Given the description of an element on the screen output the (x, y) to click on. 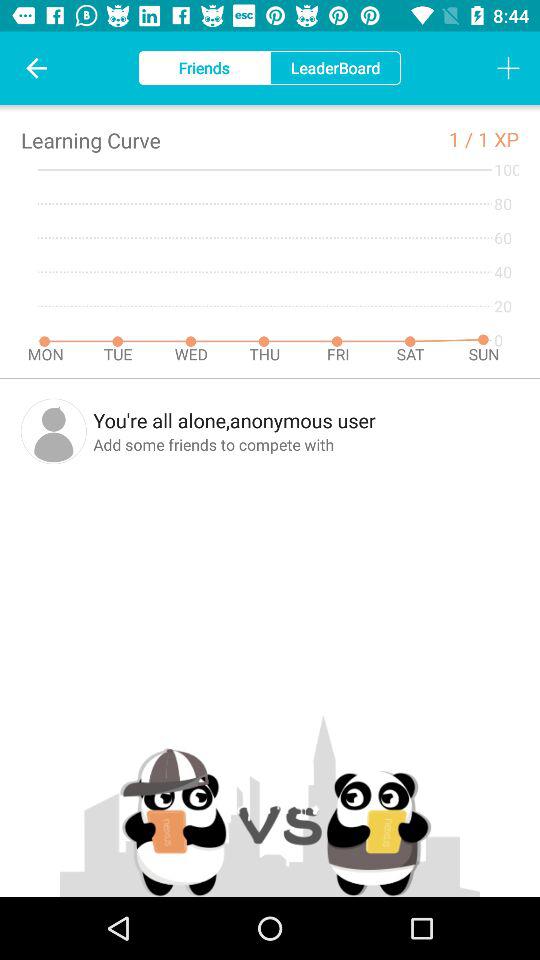
click item on the left (53, 431)
